Given the description of an element on the screen output the (x, y) to click on. 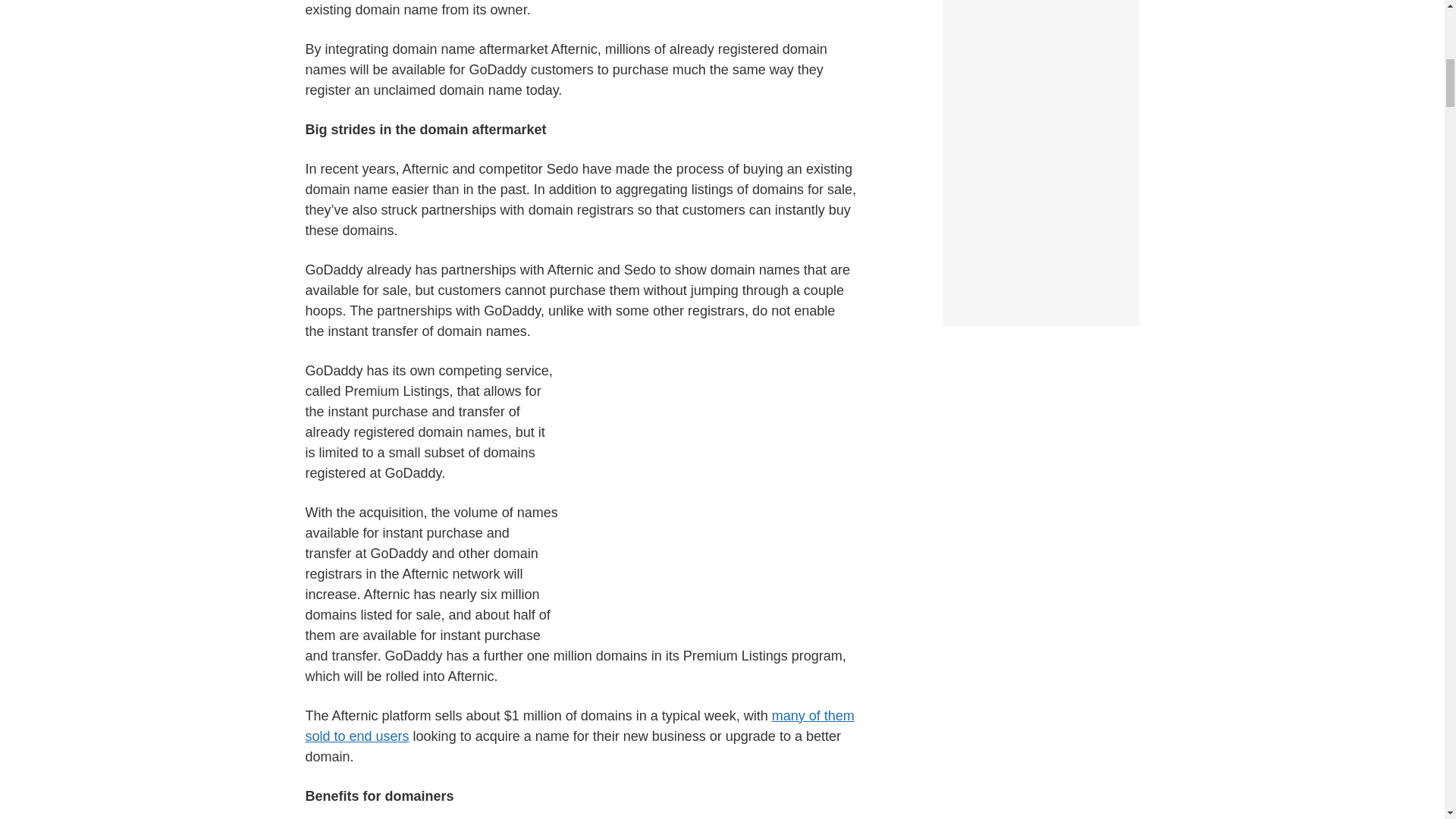
many of them sold to end users (578, 725)
